Given the description of an element on the screen output the (x, y) to click on. 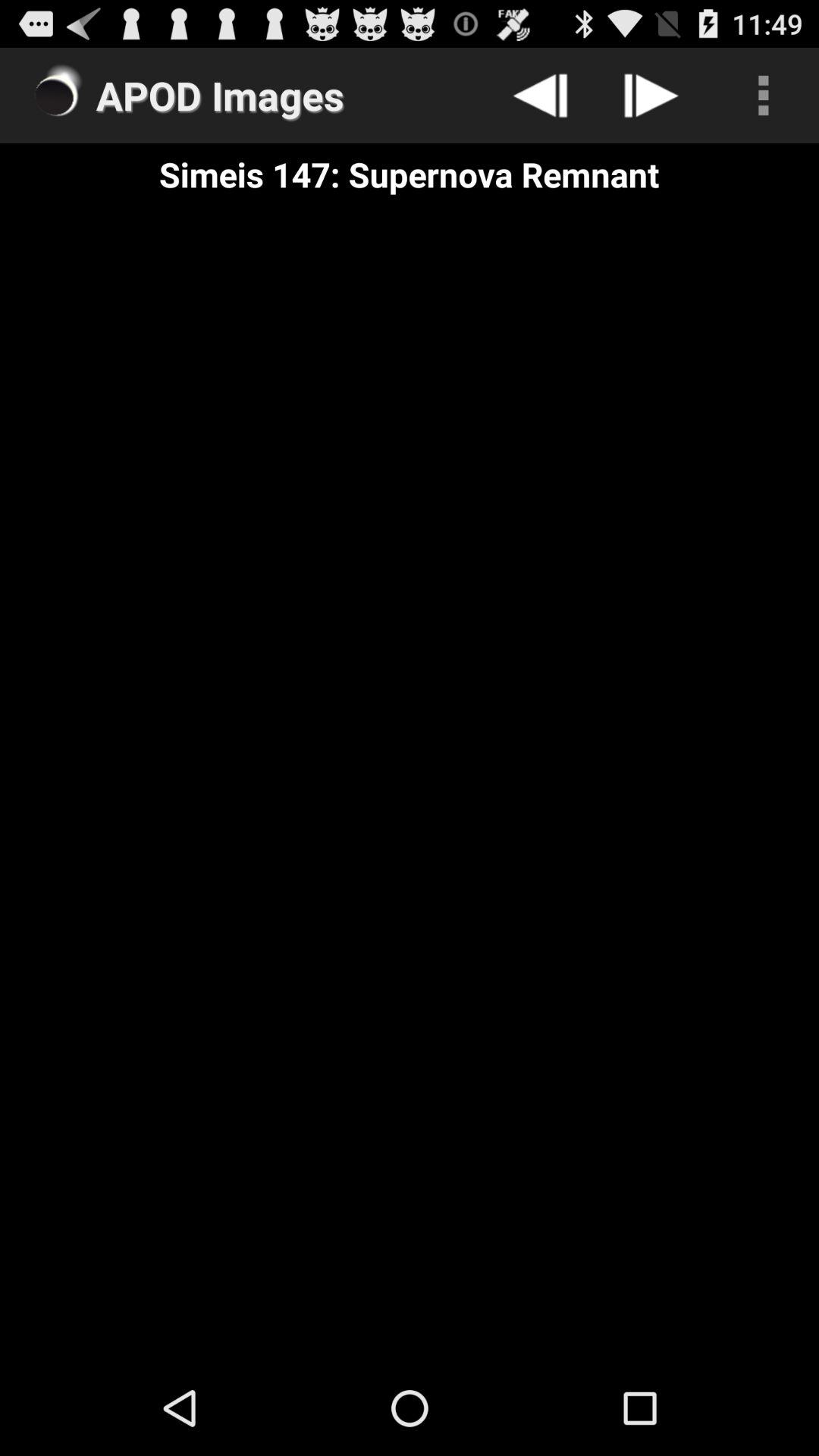
go next (651, 95)
